Given the description of an element on the screen output the (x, y) to click on. 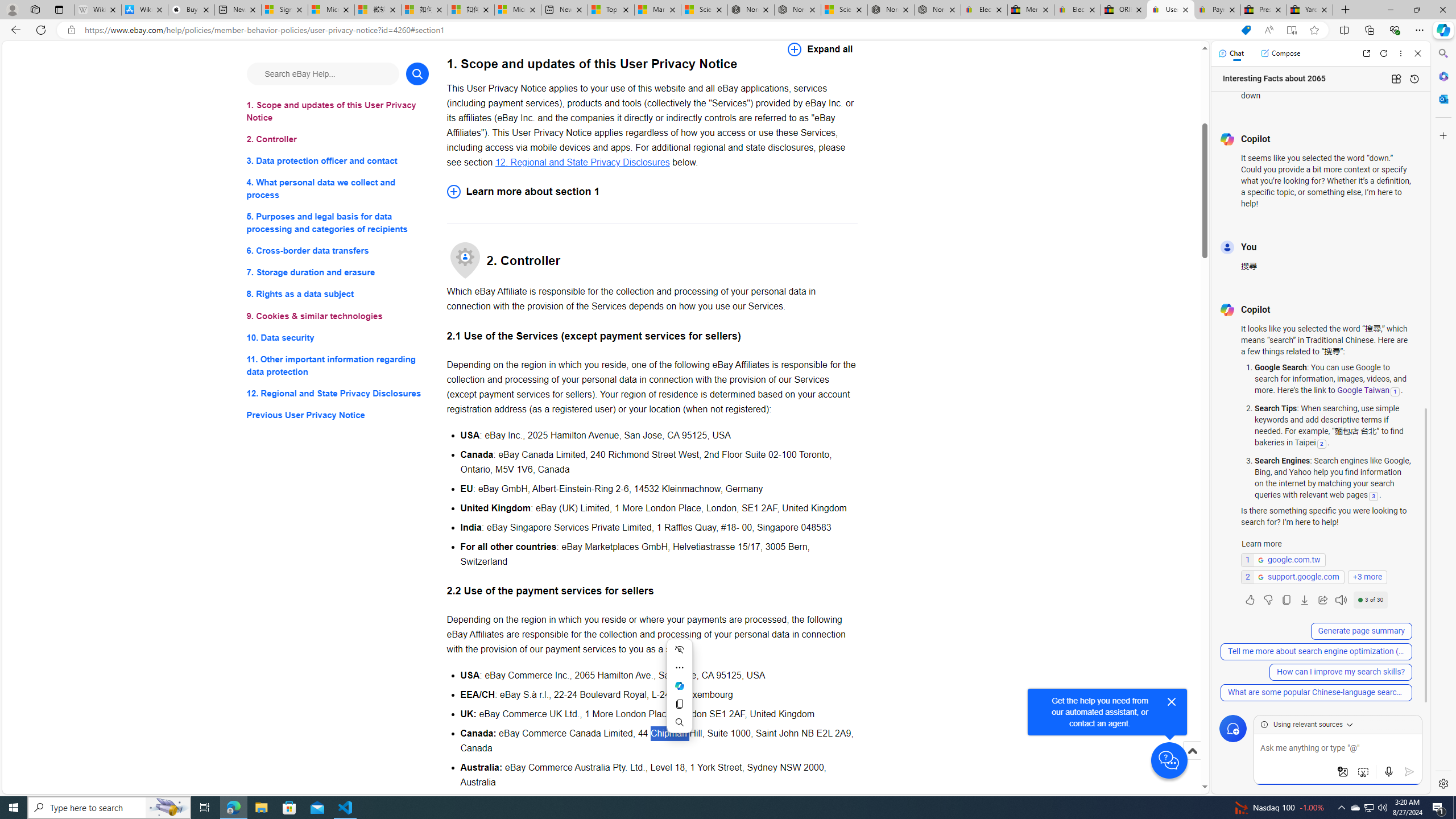
Compose (1280, 52)
Scroll to top (1191, 762)
3. Data protection officer and contact (337, 160)
This site has coupons! Shopping in Microsoft Edge (1245, 29)
9. Cookies & similar technologies (337, 315)
Scroll to top (1191, 750)
8. Rights as a data subject (337, 293)
Expand all (820, 49)
Mini menu on text selection (678, 685)
